Given the description of an element on the screen output the (x, y) to click on. 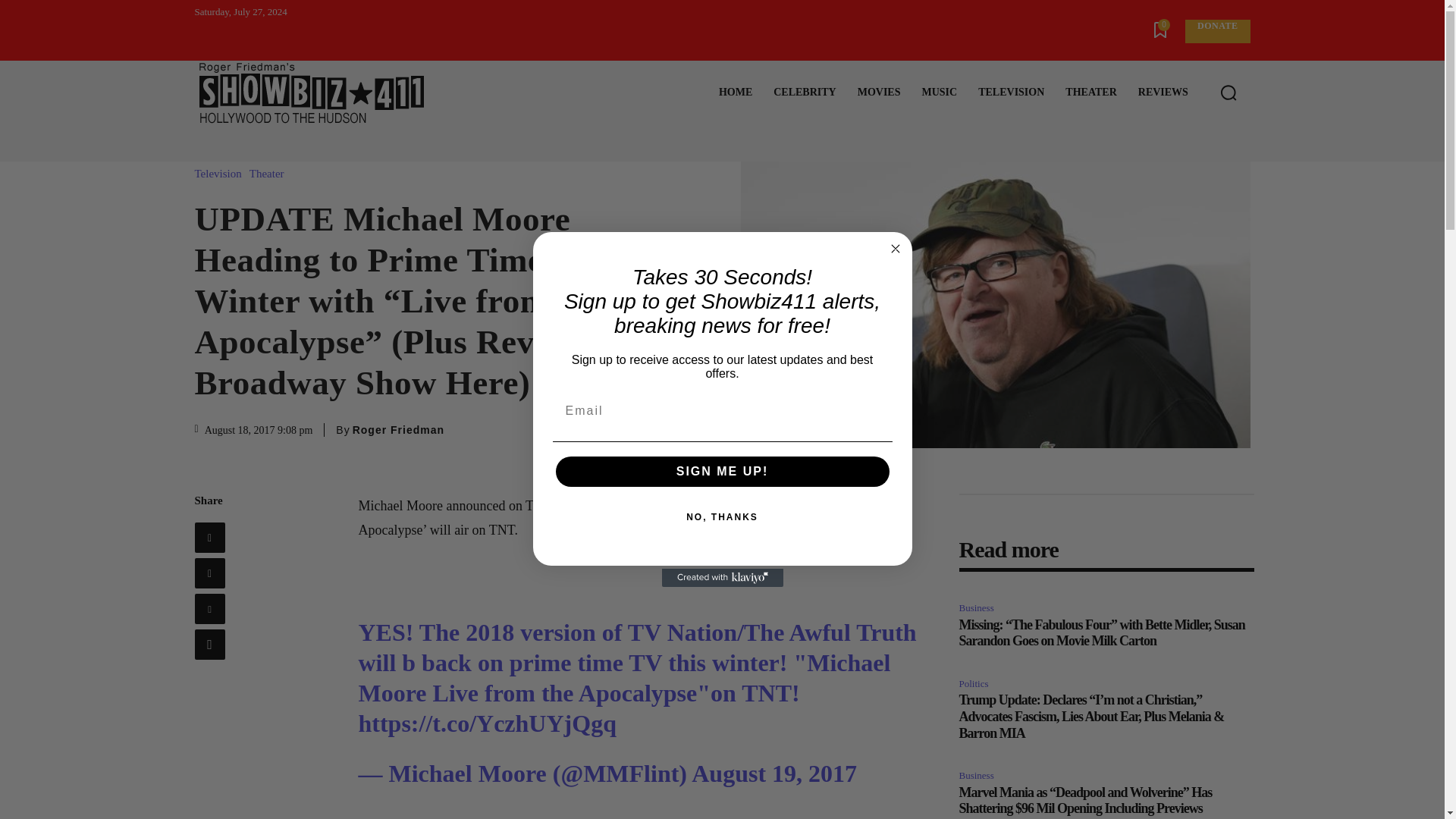
MUSIC (939, 92)
DONATE (1217, 31)
MOVIES (879, 92)
Donate (1217, 31)
Pinterest (208, 608)
REVIEWS (1162, 92)
Facebook (208, 537)
THEATER (1090, 92)
HOME (734, 92)
Television (220, 173)
TELEVISION (1011, 92)
Twitter (208, 572)
CELEBRITY (803, 92)
WhatsApp (208, 644)
